Given the description of an element on the screen output the (x, y) to click on. 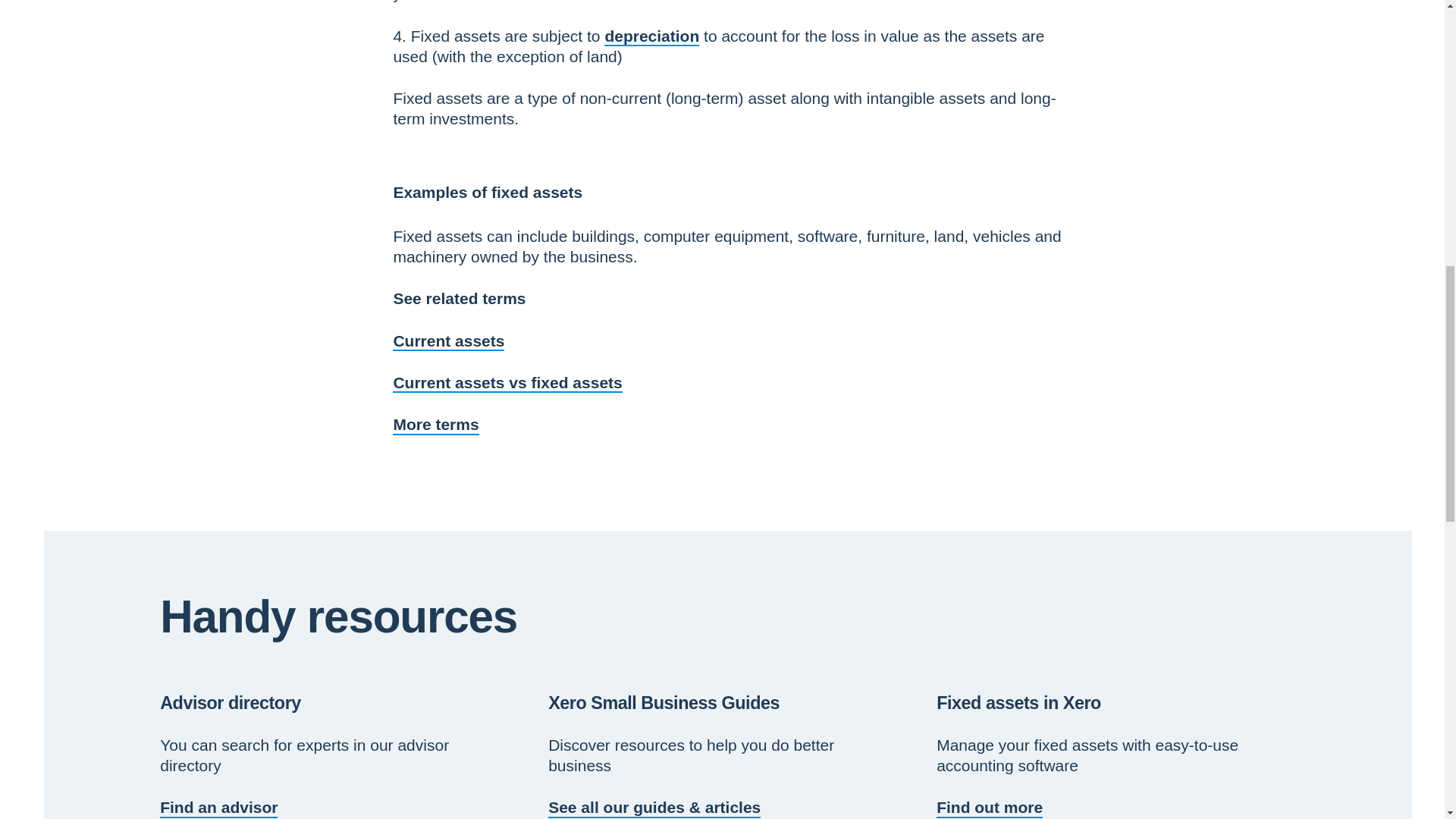
depreciation (651, 36)
Current assets (448, 340)
Find out more (989, 806)
More terms (436, 424)
Current assets vs fixed assets (507, 382)
Find an advisor (219, 806)
